Given the description of an element on the screen output the (x, y) to click on. 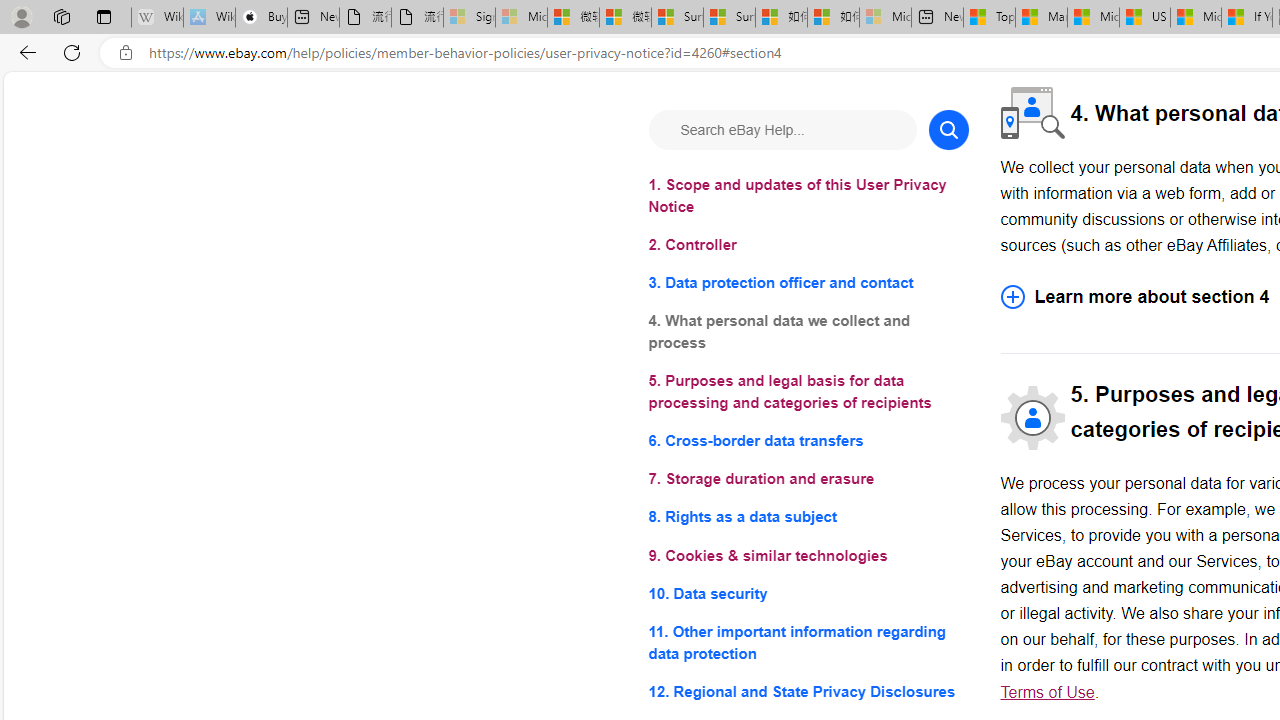
Buy iPad - Apple (260, 17)
2. Controller (807, 245)
